Given the description of an element on the screen output the (x, y) to click on. 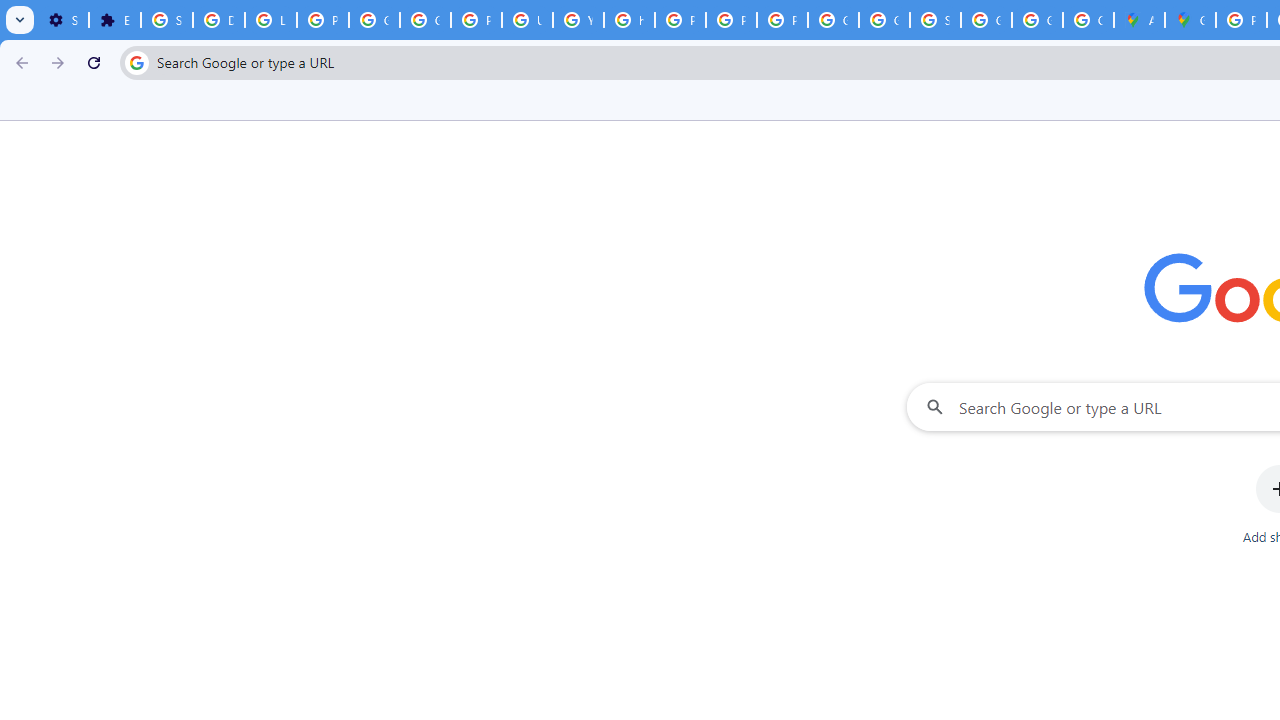
YouTube (578, 20)
